Given the description of an element on the screen output the (x, y) to click on. 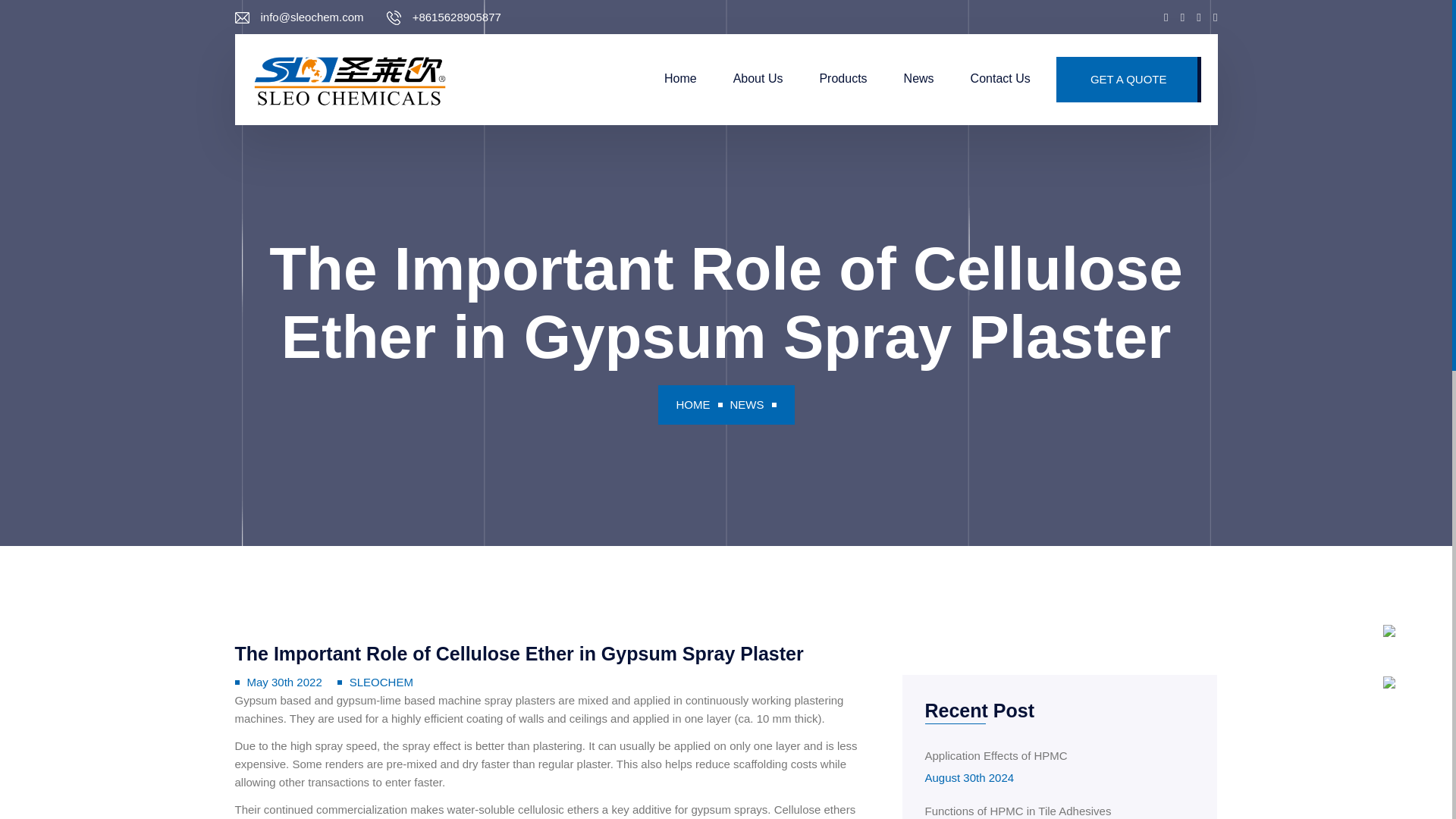
About Us (758, 78)
Contact Us (1000, 78)
NEWS (1021, 764)
GET A QUOTE (745, 404)
SLEOCHEM (1129, 79)
May 30th 2022 (349, 79)
call (284, 682)
mail (1021, 810)
